Given the description of an element on the screen output the (x, y) to click on. 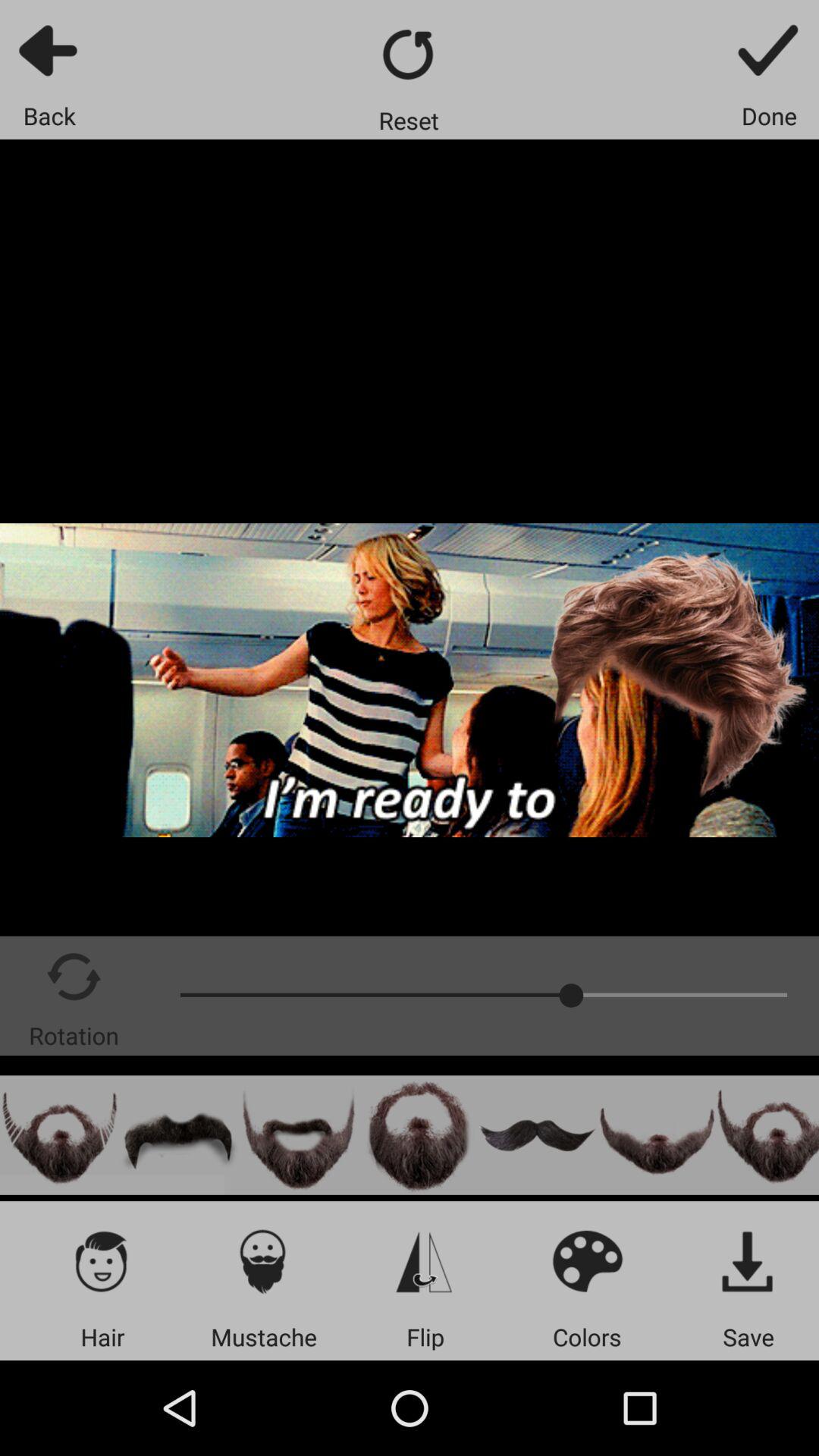
reset page (408, 54)
